Given the description of an element on the screen output the (x, y) to click on. 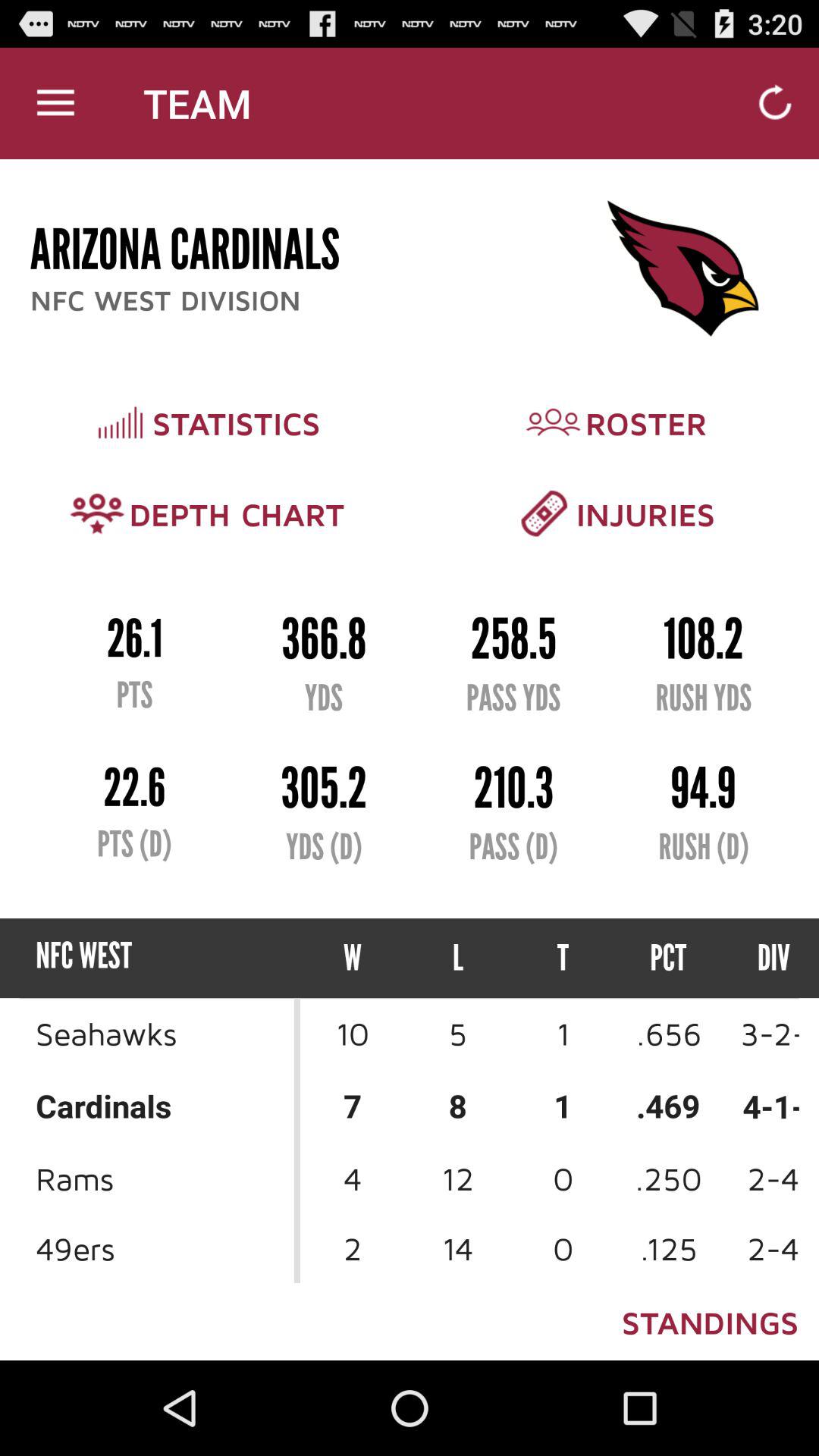
choose the icon next to team (55, 103)
